Given the description of an element on the screen output the (x, y) to click on. 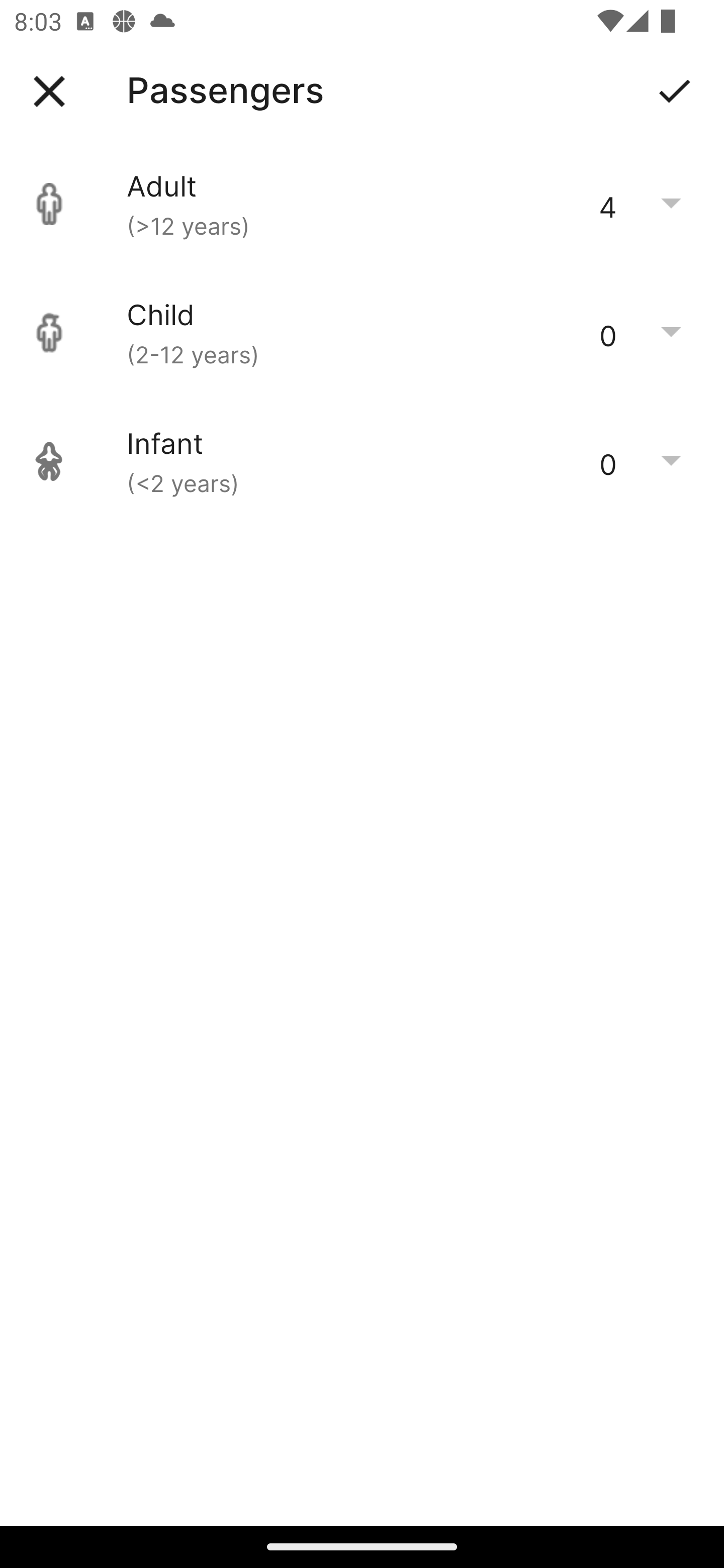
Adult (>12 years) 4 (362, 204)
Child (2-12 years) 0 (362, 332)
Infant (<2 years) 0 (362, 461)
